Given the description of an element on the screen output the (x, y) to click on. 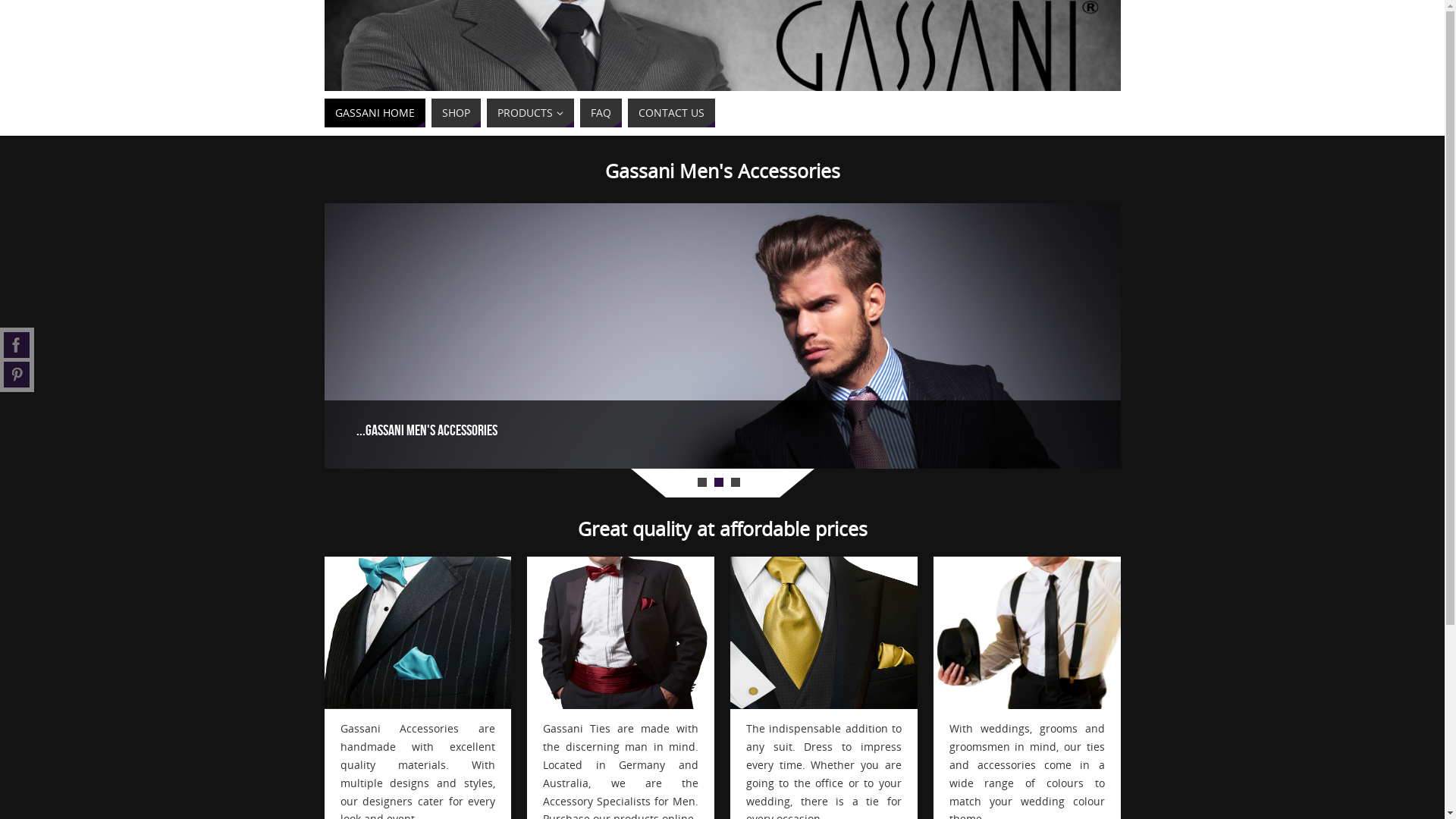
PRODUCTS Element type: text (530, 112)
Pinterest Element type: hover (16, 374)
SHOP Element type: text (455, 112)
1 Element type: text (701, 481)
3 Element type: text (735, 481)
FAQ Element type: text (600, 112)
Formal and Semi-Formal Accessories Element type: text (417, 632)
Matching accessories in many colours Element type: text (1026, 632)
Look great on the big day or every day Element type: text (620, 632)
GASSANI HOME Element type: text (374, 112)
CONTACT US Element type: text (671, 112)
Facebook Element type: hover (16, 344)
Business, Formal and Semi-Formal Accessories Element type: text (823, 632)
2 Element type: text (718, 481)
